Given the description of an element on the screen output the (x, y) to click on. 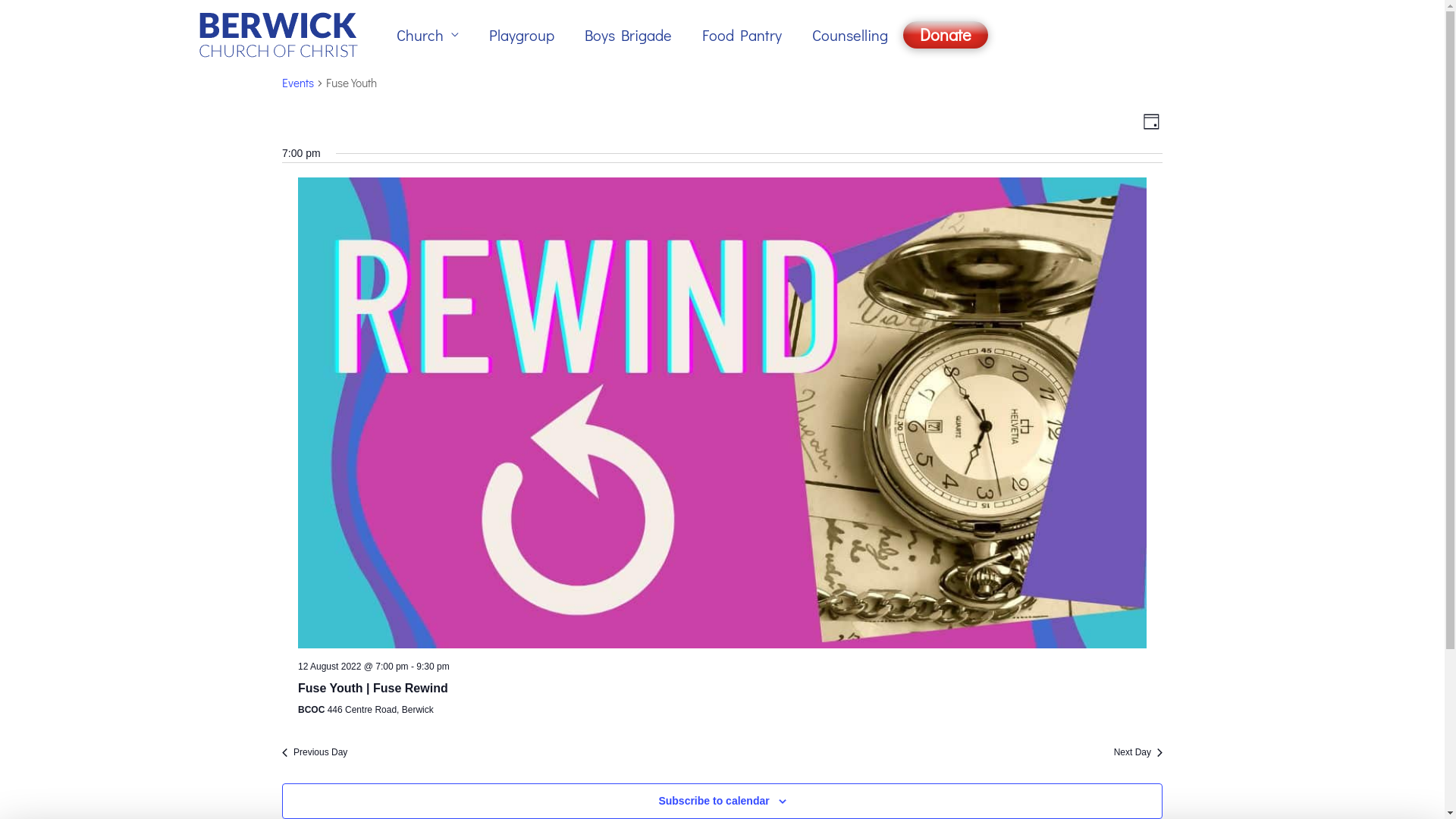
Subscribe to calendar Element type: text (713, 800)
Day Element type: text (1151, 121)
Previous Day Element type: text (314, 752)
Church Element type: text (426, 34)
Next Day Element type: text (1137, 752)
Events Element type: text (297, 84)
Boys Brigade Element type: text (627, 34)
Food Pantry Element type: text (742, 34)
Fuse Youth | Fuse Rewind Element type: hover (722, 413)
Donate Element type: text (944, 34)
Fuse Youth | Fuse Rewind Element type: text (373, 688)
Counselling Element type: text (849, 34)
Playgroup Element type: text (520, 34)
